Given the description of an element on the screen output the (x, y) to click on. 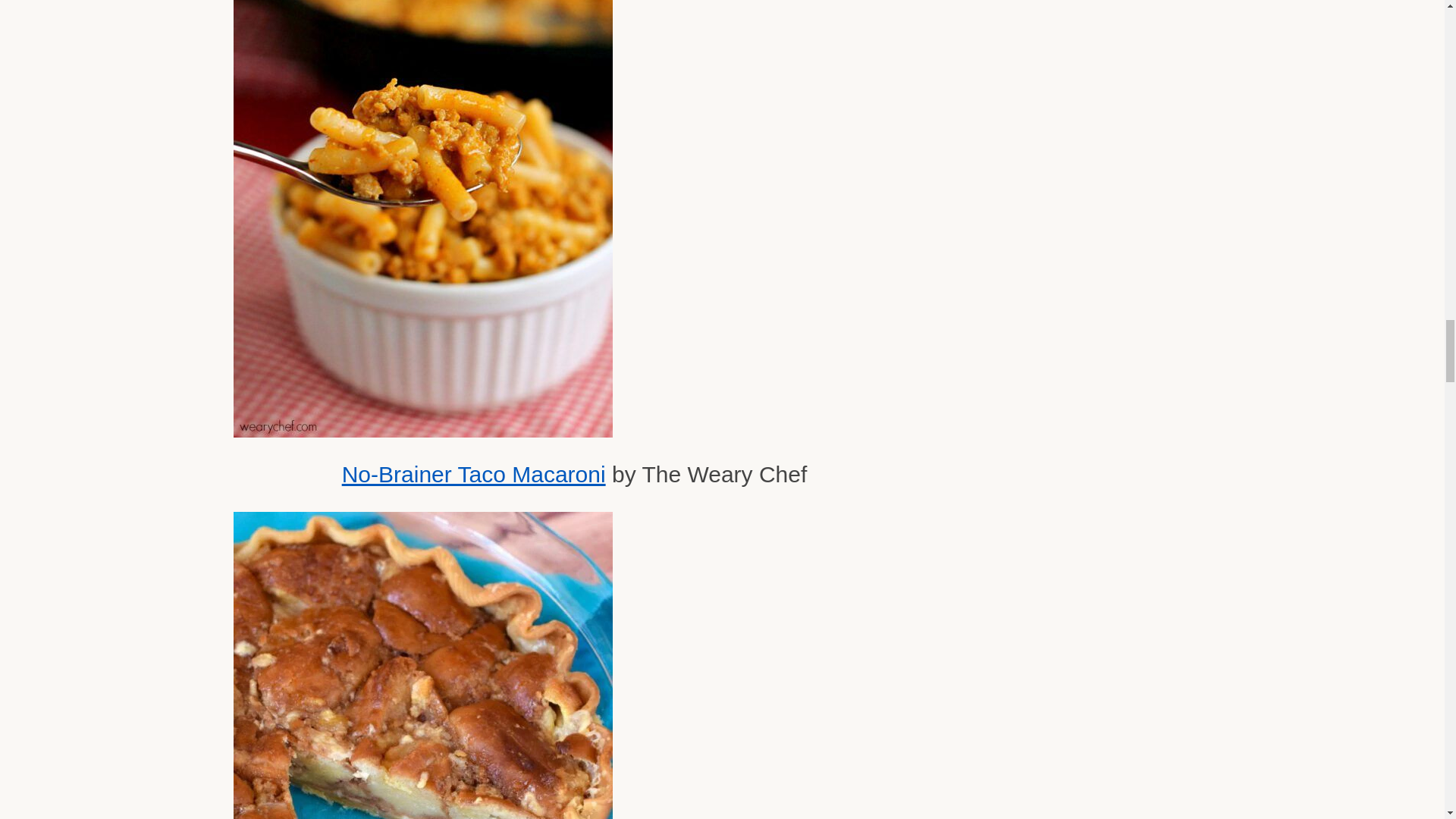
No-Brainer Taco Macaroni (473, 473)
